Given the description of an element on the screen output the (x, y) to click on. 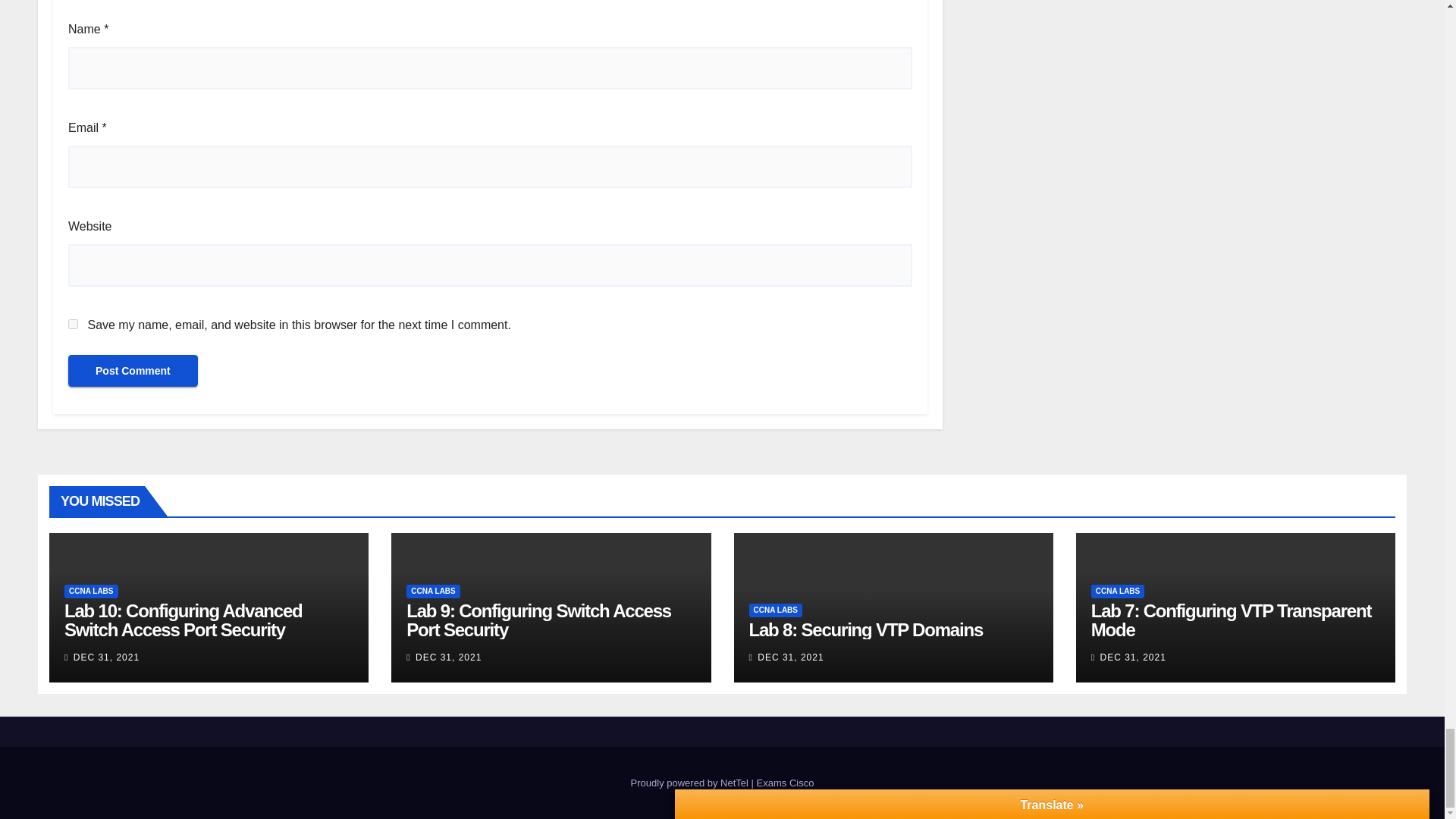
CCNA LABS (90, 591)
yes (73, 324)
Post Comment (133, 370)
Post Comment (133, 370)
